Given the description of an element on the screen output the (x, y) to click on. 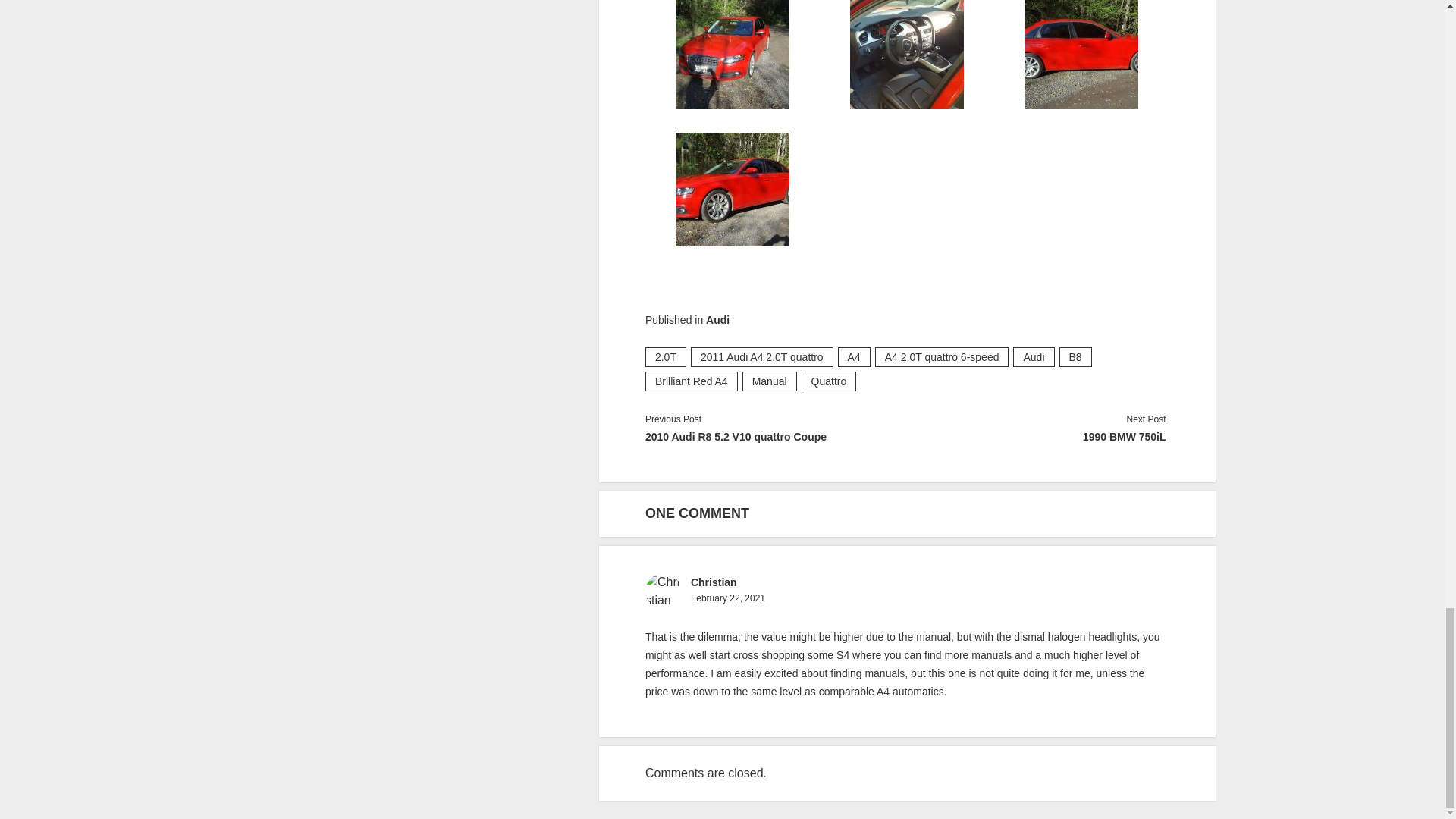
A4 (854, 356)
2010 Audi R8 5.2 V10 quattro Coupe (776, 436)
Manual (769, 381)
View all posts tagged 2011 Audi A4 2.0T quattro (761, 356)
View all posts in Audi (717, 319)
2011 Audi A4 2.0T quattro (761, 356)
1990 BMW 750iL (1035, 436)
View all posts tagged Audi (1033, 356)
Audi (717, 319)
2.0T (665, 356)
